Given the description of an element on the screen output the (x, y) to click on. 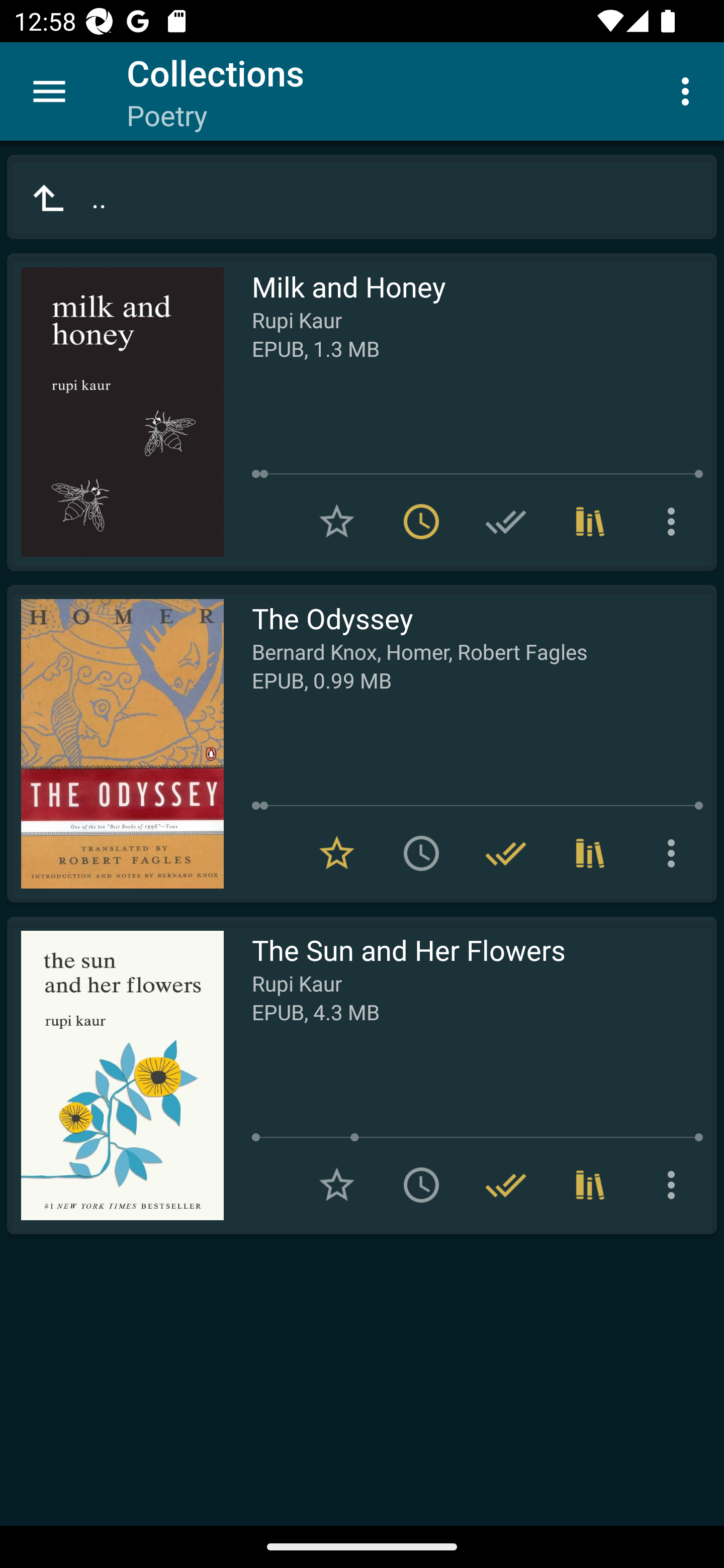
Menu (49, 91)
More options (688, 90)
.. (361, 197)
Read Milk and Honey (115, 412)
Add to Favorites (336, 521)
Remove from To read (421, 521)
Add to Have read (505, 521)
Collections (3) (590, 521)
More options (674, 521)
Read The Odyssey (115, 743)
Remove from Favorites (336, 852)
Add to To read (421, 852)
Remove from Have read (505, 852)
Collections (3) (590, 852)
More options (674, 852)
Read The Sun and Her Flowers (115, 1075)
Add to Favorites (336, 1185)
Add to To read (421, 1185)
Remove from Have read (505, 1185)
Collections (1) (590, 1185)
More options (674, 1185)
